Given the description of an element on the screen output the (x, y) to click on. 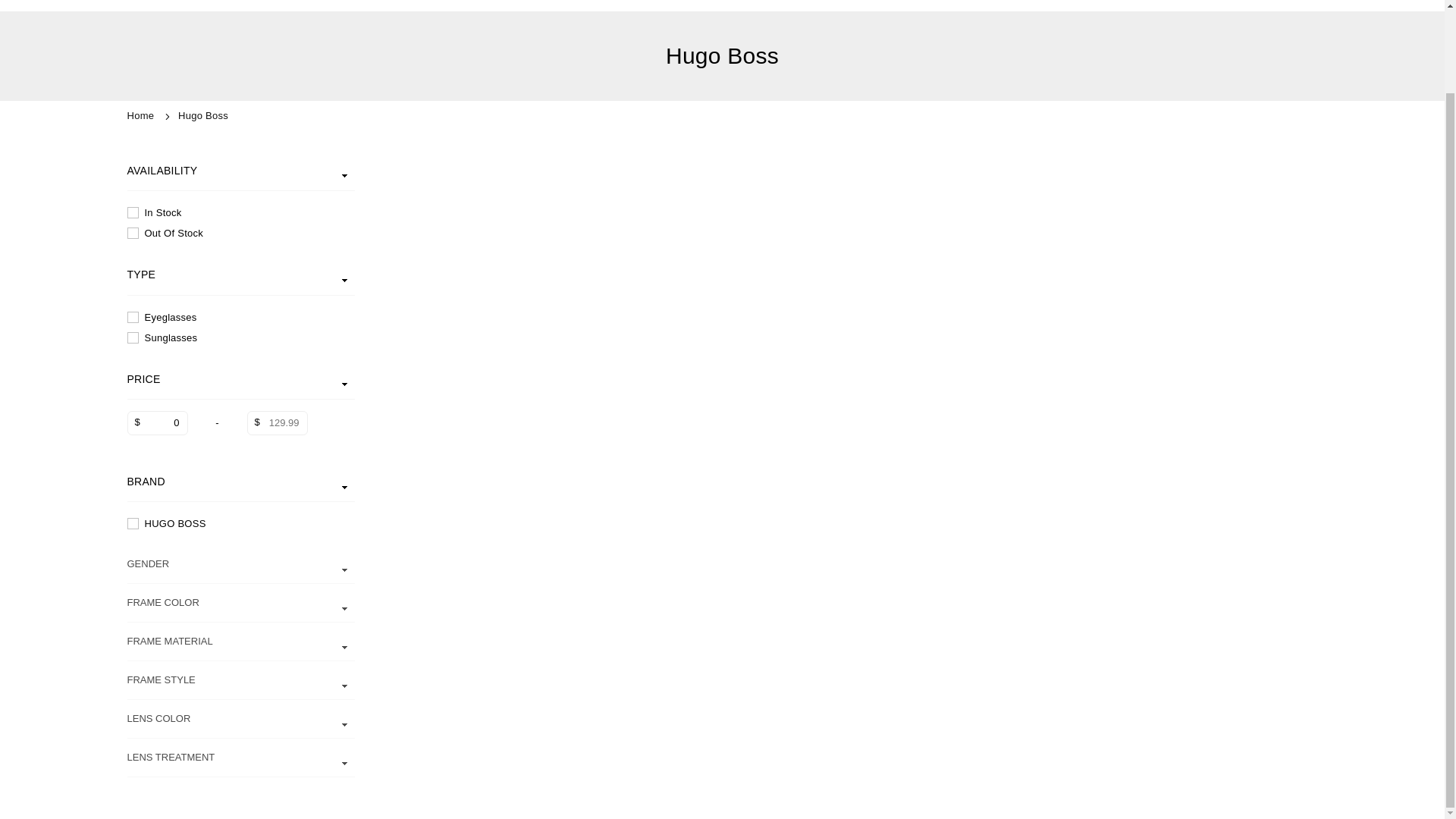
0 (157, 422)
Back to the home page (142, 115)
